Given the description of an element on the screen output the (x, y) to click on. 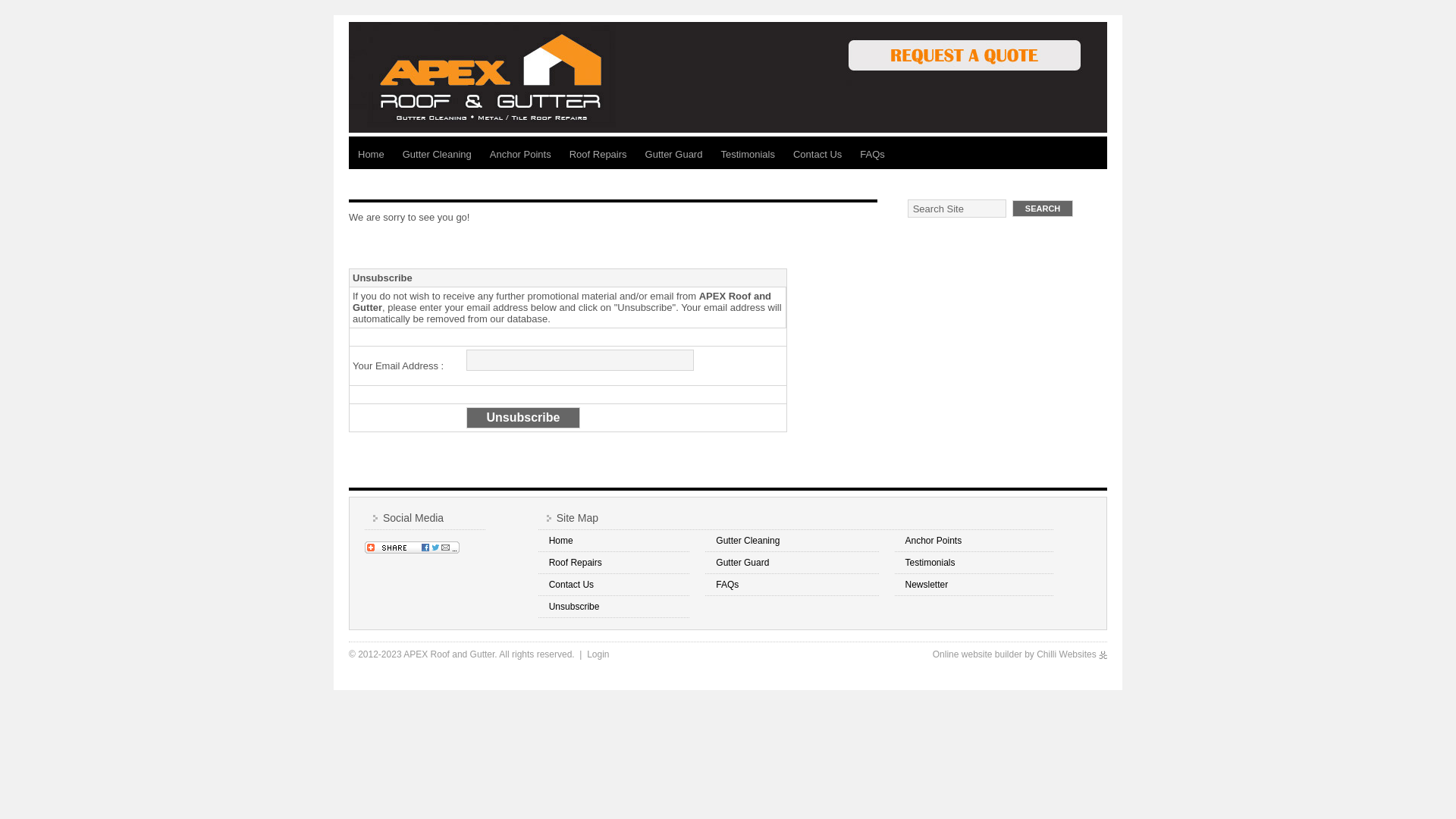
Contact Us Element type: text (571, 584)
Roof Repairs Element type: text (598, 154)
Contact Us Element type: text (817, 154)
Unsubscribe Element type: text (523, 417)
Home Element type: text (560, 540)
Testimonials Element type: text (929, 562)
FAQs Element type: text (726, 584)
Gutter Cleaning Element type: text (747, 540)
Unsubscribe Element type: text (574, 606)
FAQs Element type: text (871, 154)
Gutter Cleaning Element type: text (436, 154)
Roof Repairs Element type: text (575, 562)
SEARCH Element type: text (1042, 208)
Anchor Points Element type: text (520, 154)
Login Element type: text (597, 654)
Gutter Guard Element type: text (673, 154)
Gutter Guard Element type: text (742, 562)
Online website builder by Chilli Websites  Element type: text (1019, 654)
Anchor Points Element type: text (932, 540)
Testimonials Element type: text (747, 154)
Home Element type: text (370, 154)
Newsletter Element type: text (926, 584)
